Given the description of an element on the screen output the (x, y) to click on. 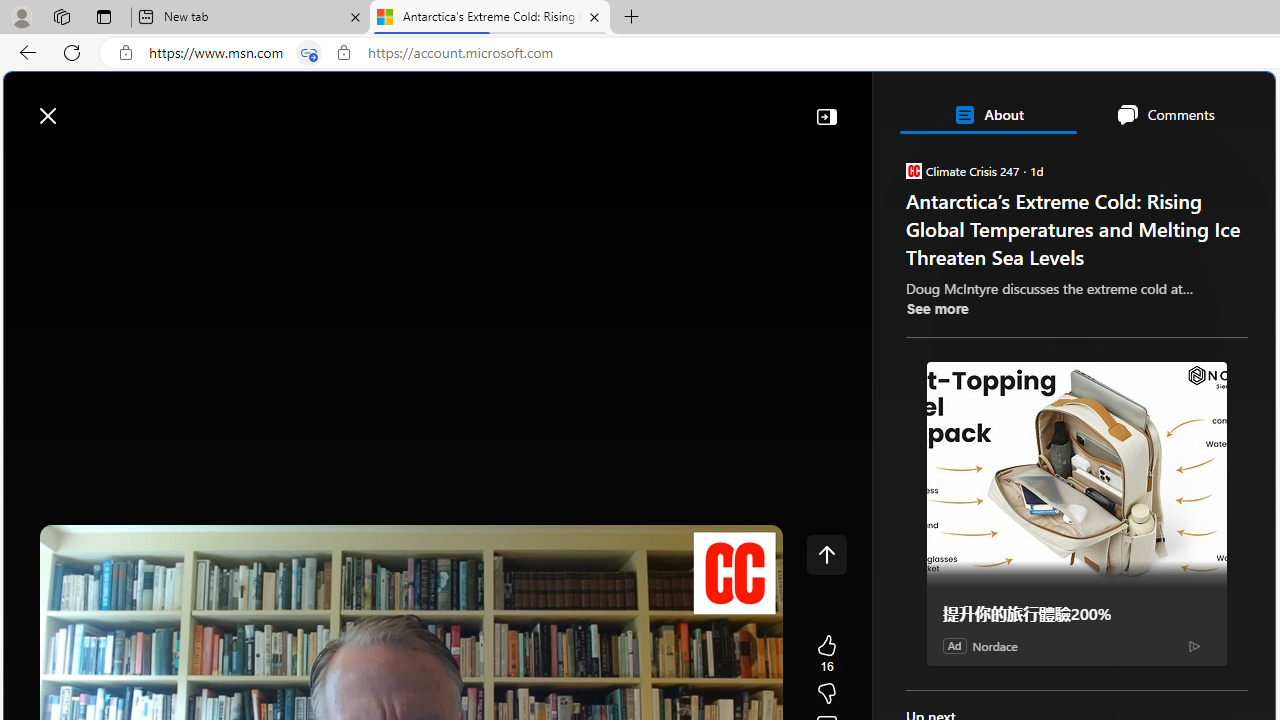
Open settings (1230, 105)
Class: button-glyph (29, 162)
About (987, 114)
Open navigation menu (29, 162)
